Given the description of an element on the screen output the (x, y) to click on. 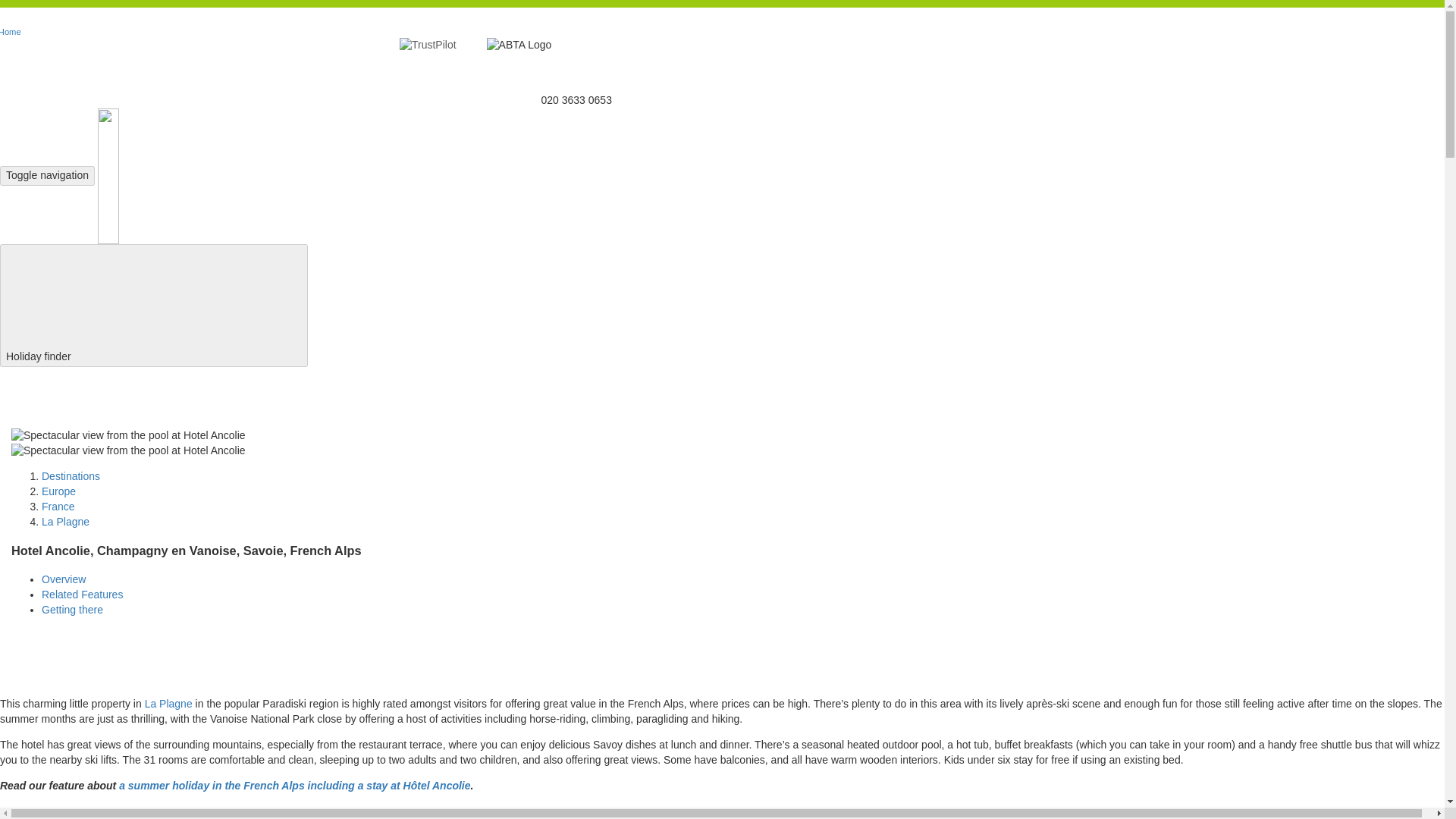
Spectacular view from the pool at Hotel Ancolie (128, 435)
ABTA Logo (518, 45)
La Plagne family holidays (168, 703)
Summer holiday in the French Alps (294, 785)
TrustPilot (427, 45)
Home (14, 30)
Toggle navigation (47, 175)
Spectacular view from the pool at Hotel Ancolie (128, 450)
